Given the description of an element on the screen output the (x, y) to click on. 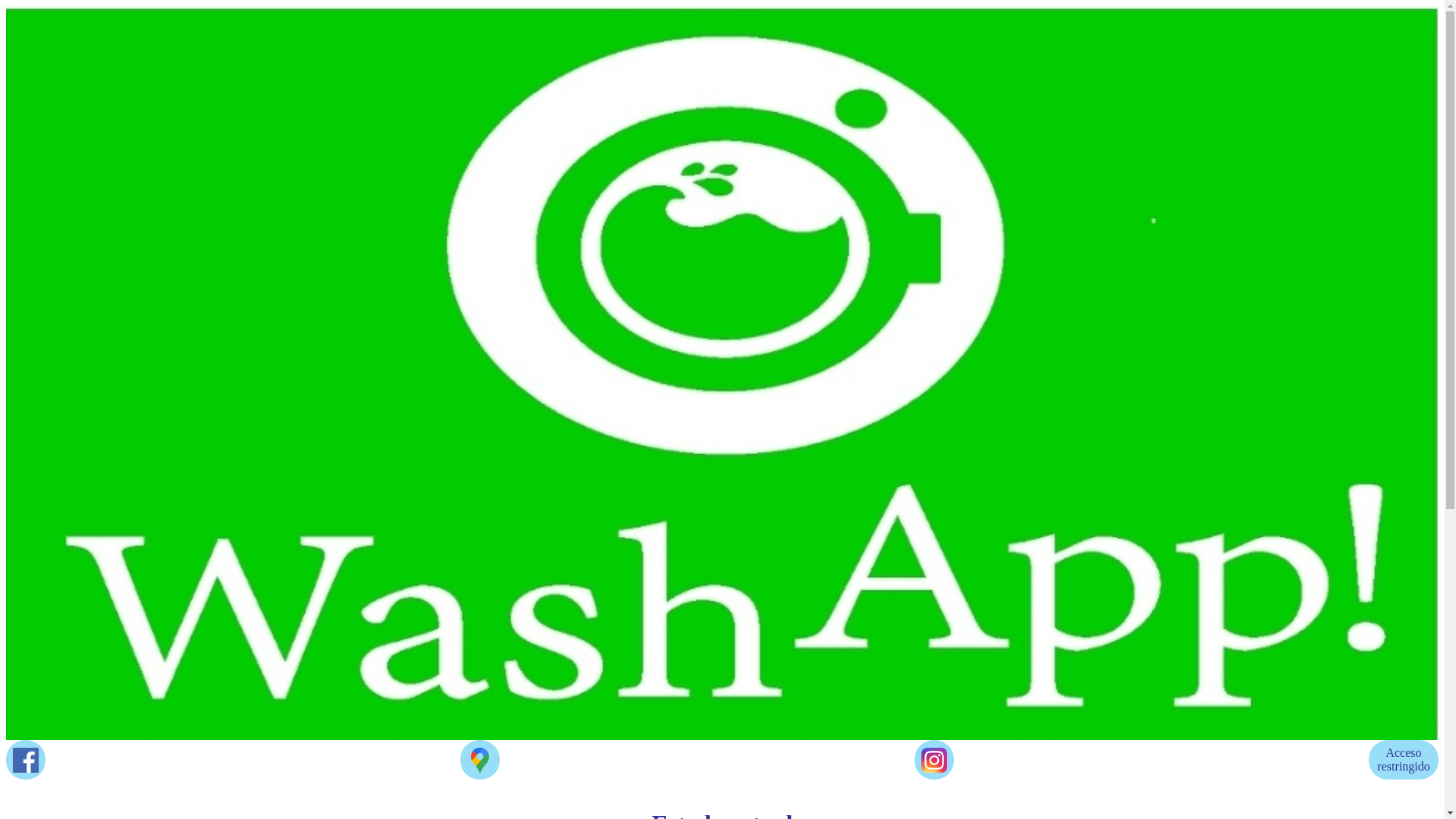
Acceso
restringido Element type: text (1403, 759)
